Given the description of an element on the screen output the (x, y) to click on. 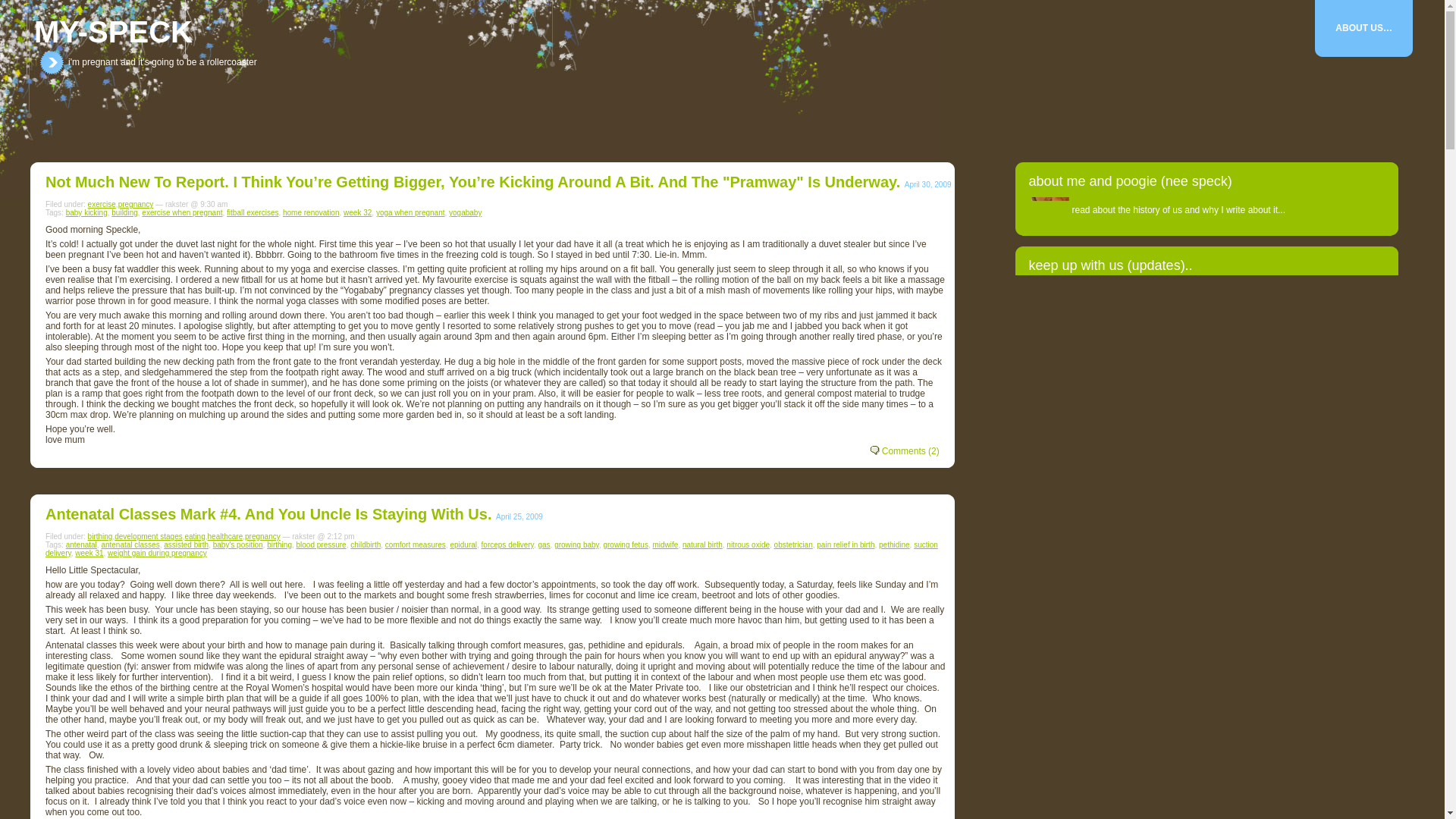
home renovation (310, 212)
epidural (463, 544)
growing fetus (624, 544)
development stages (149, 536)
pregnancy (262, 536)
yoga when pregnant (410, 212)
gas (543, 544)
obstetrician (793, 544)
birthing (279, 544)
healthcare (225, 536)
